Given the description of an element on the screen output the (x, y) to click on. 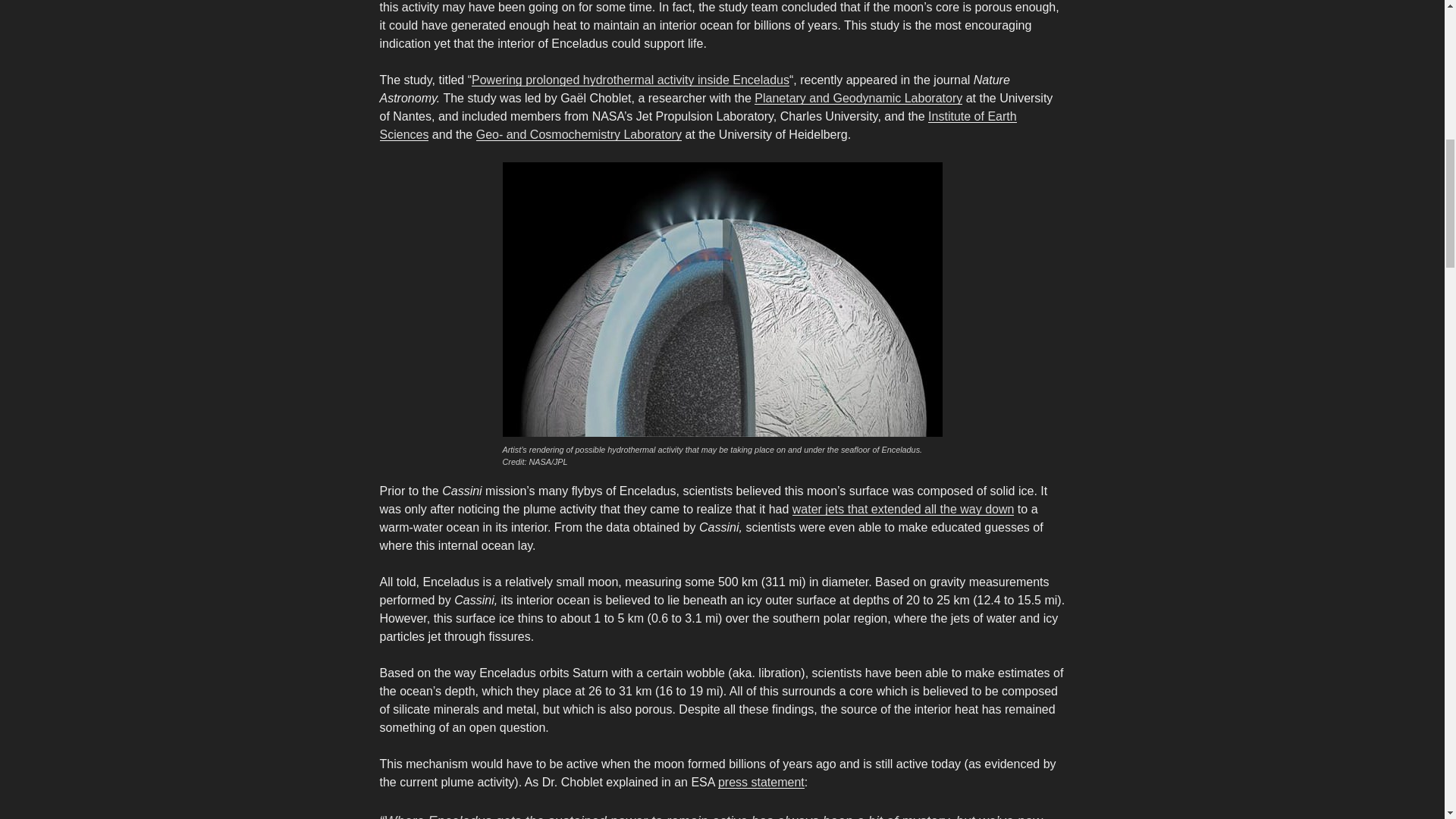
Planetary and Geodynamic Laboratory (858, 97)
Institute of Earth Sciences (697, 124)
Powering prolonged hydrothermal activity inside Enceladus (630, 79)
Geo- and Cosmochemistry Laboratory (578, 133)
press statement (761, 781)
water jets that extended all the way down (903, 508)
